Given the description of an element on the screen output the (x, y) to click on. 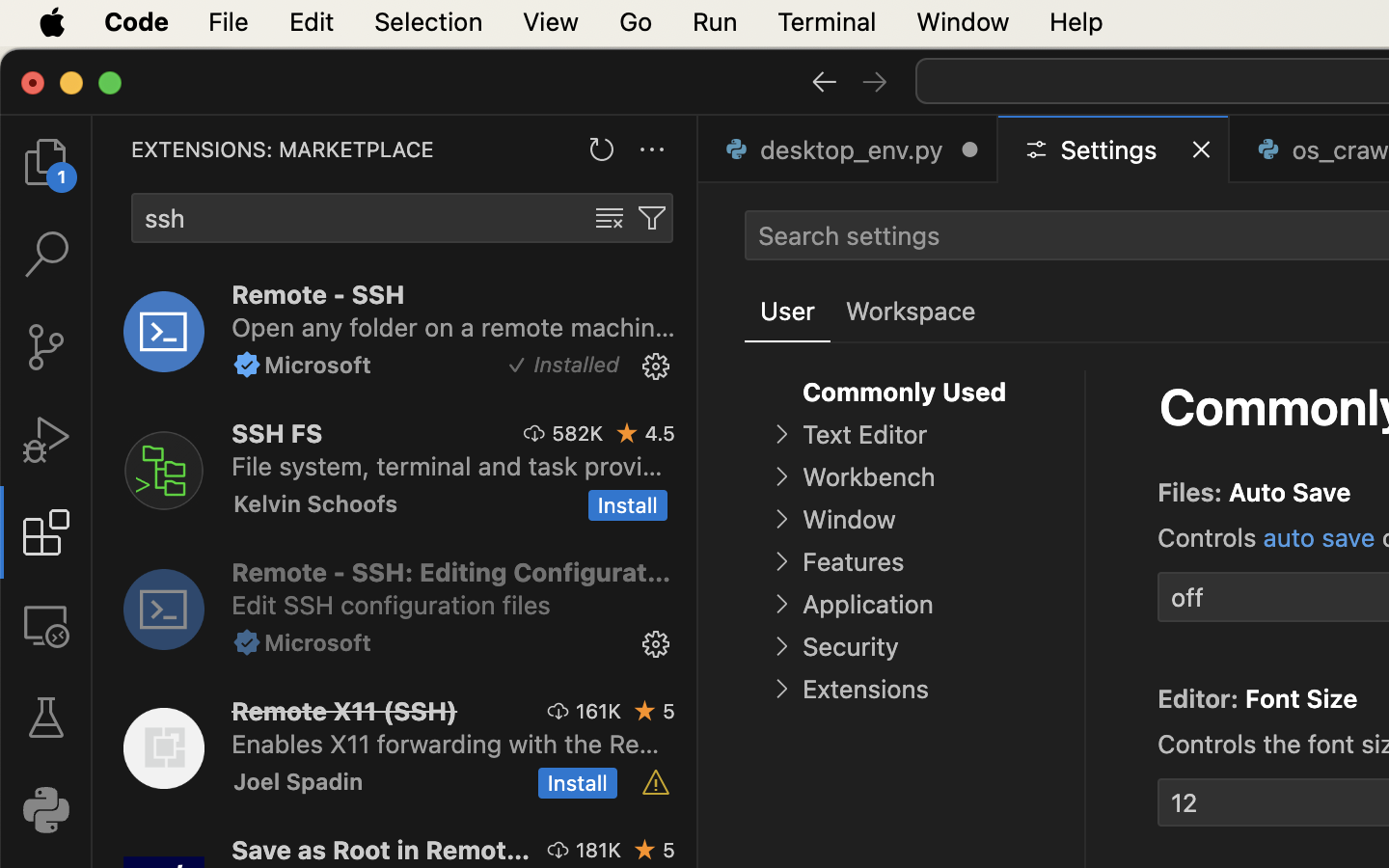
181K Element type: AXStaticText (597, 849)
Enables X11 forwarding with the Remote - SSH extension. Element type: AXStaticText (445, 743)
Security Element type: AXStaticText (850, 646)
 Element type: AXButton (874, 80)
 Element type: AXStaticText (627, 432)
